Given the description of an element on the screen output the (x, y) to click on. 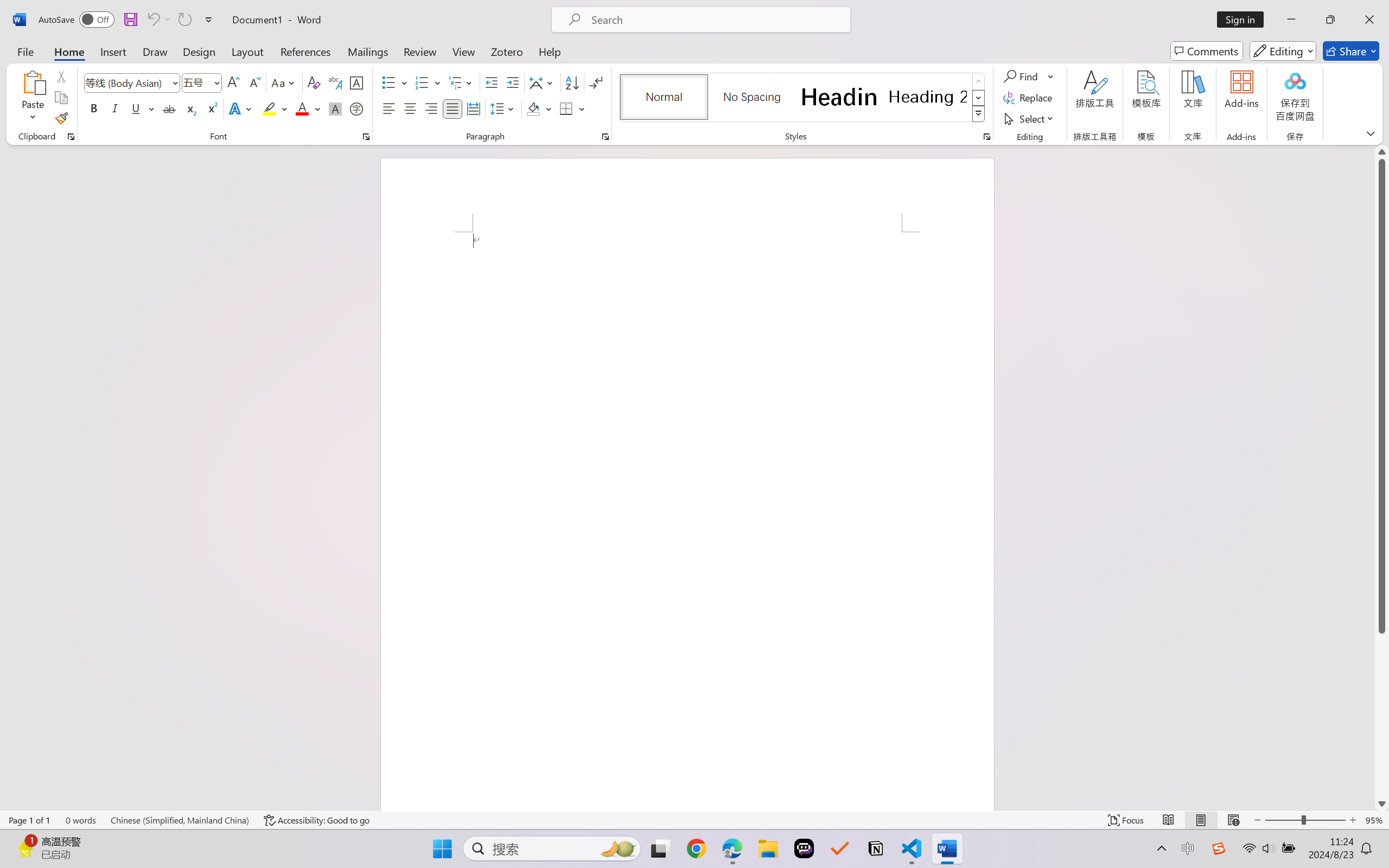
Can't Undo (158, 19)
Can't Repeat (184, 19)
Zoom 95% (1374, 819)
